Given the description of an element on the screen output the (x, y) to click on. 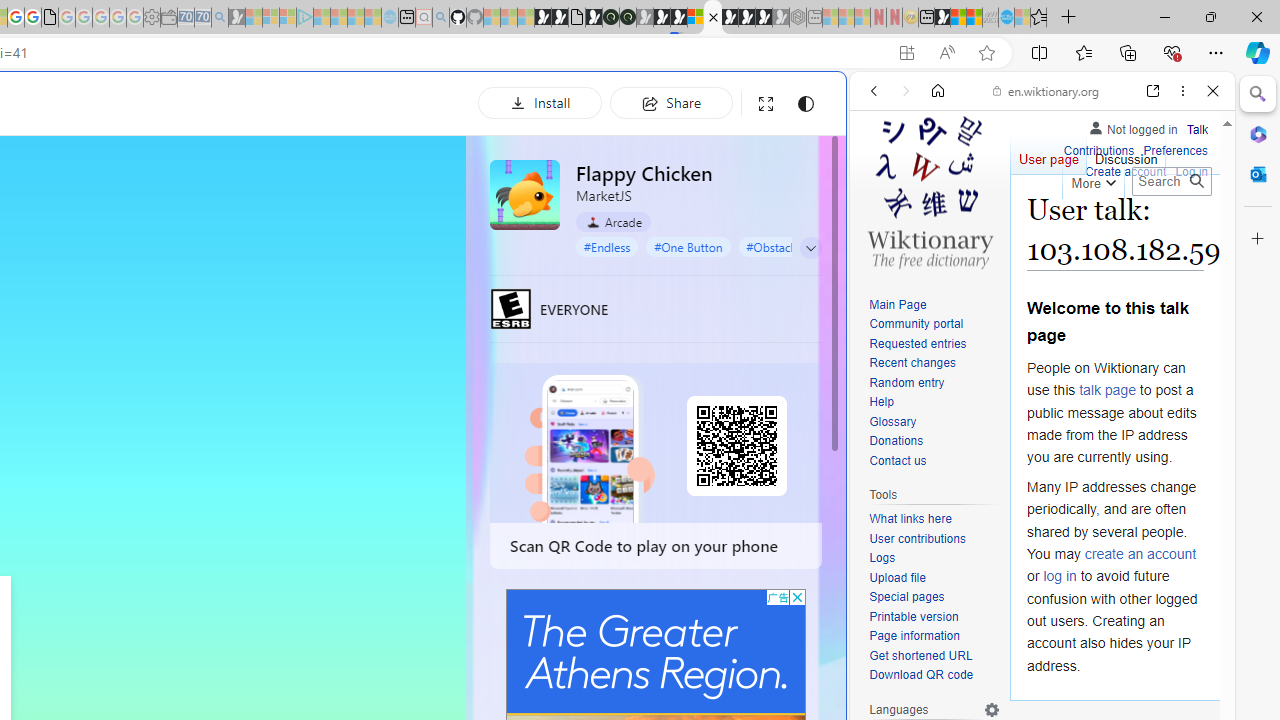
Special pages (906, 596)
Upload file (934, 578)
Page information (934, 637)
Services - Maintenance | Sky Blue Bikes - Sky Blue Bikes (1005, 17)
Search Wiktionary (1171, 181)
Discussion (1125, 154)
talk page (1107, 390)
Share (671, 102)
Create account (1125, 172)
Get shortened URL (934, 655)
Log in (1191, 172)
